Given the description of an element on the screen output the (x, y) to click on. 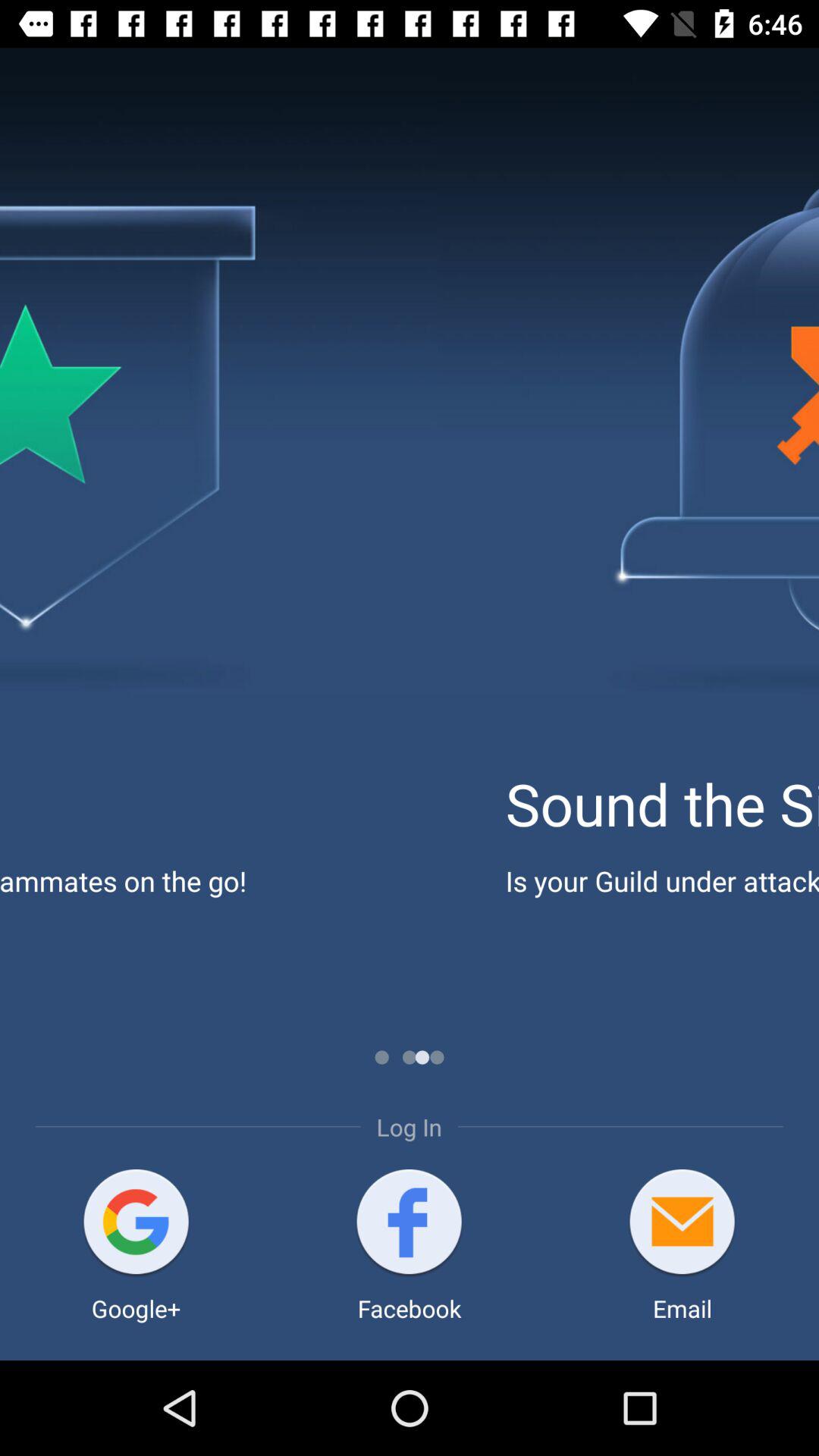
log in with facebook (408, 1223)
